Given the description of an element on the screen output the (x, y) to click on. 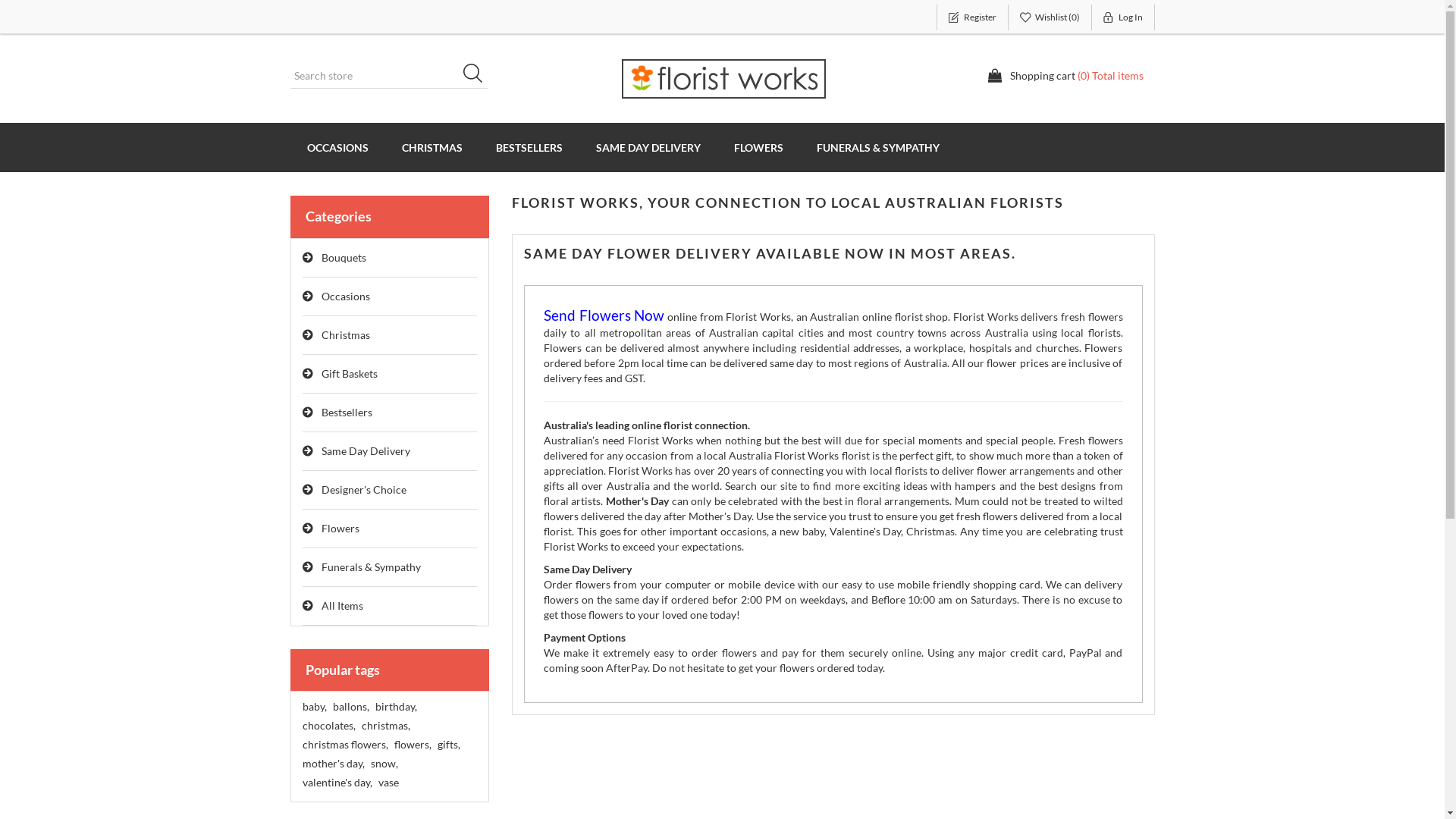
christmas, Element type: text (384, 725)
CHRISTMAS Element type: text (432, 147)
BESTSELLERS Element type: text (529, 147)
Gift Baskets Element type: text (388, 373)
snow, Element type: text (383, 763)
baby, Element type: text (313, 706)
valentine's day, Element type: text (336, 782)
Christmas Element type: text (388, 335)
All Items Element type: text (388, 605)
Flowers Element type: text (388, 528)
FUNERALS & SYMPATHY Element type: text (877, 147)
OCCASIONS Element type: text (336, 147)
christmas flowers, Element type: text (344, 744)
Shopping cart (0) Total items Element type: text (1065, 75)
Funerals & Sympathy Element type: text (388, 567)
Bouquets Element type: text (388, 257)
mother's day, Element type: text (332, 763)
Occasions Element type: text (388, 296)
gifts, Element type: text (447, 744)
Same Day Delivery Element type: text (388, 451)
ballons, Element type: text (350, 706)
flowers, Element type: text (412, 744)
birthday, Element type: text (395, 706)
Log In Element type: text (1123, 17)
SAME DAY DELIVERY Element type: text (648, 147)
Bestsellers Element type: text (388, 412)
Wishlist (0) Element type: text (1050, 17)
Register Element type: text (971, 17)
chocolates, Element type: text (327, 725)
Designer's Choice Element type: text (388, 489)
Send Flowers Now Element type: text (603, 316)
vase Element type: text (387, 782)
FLOWERS Element type: text (758, 147)
